Given the description of an element on the screen output the (x, y) to click on. 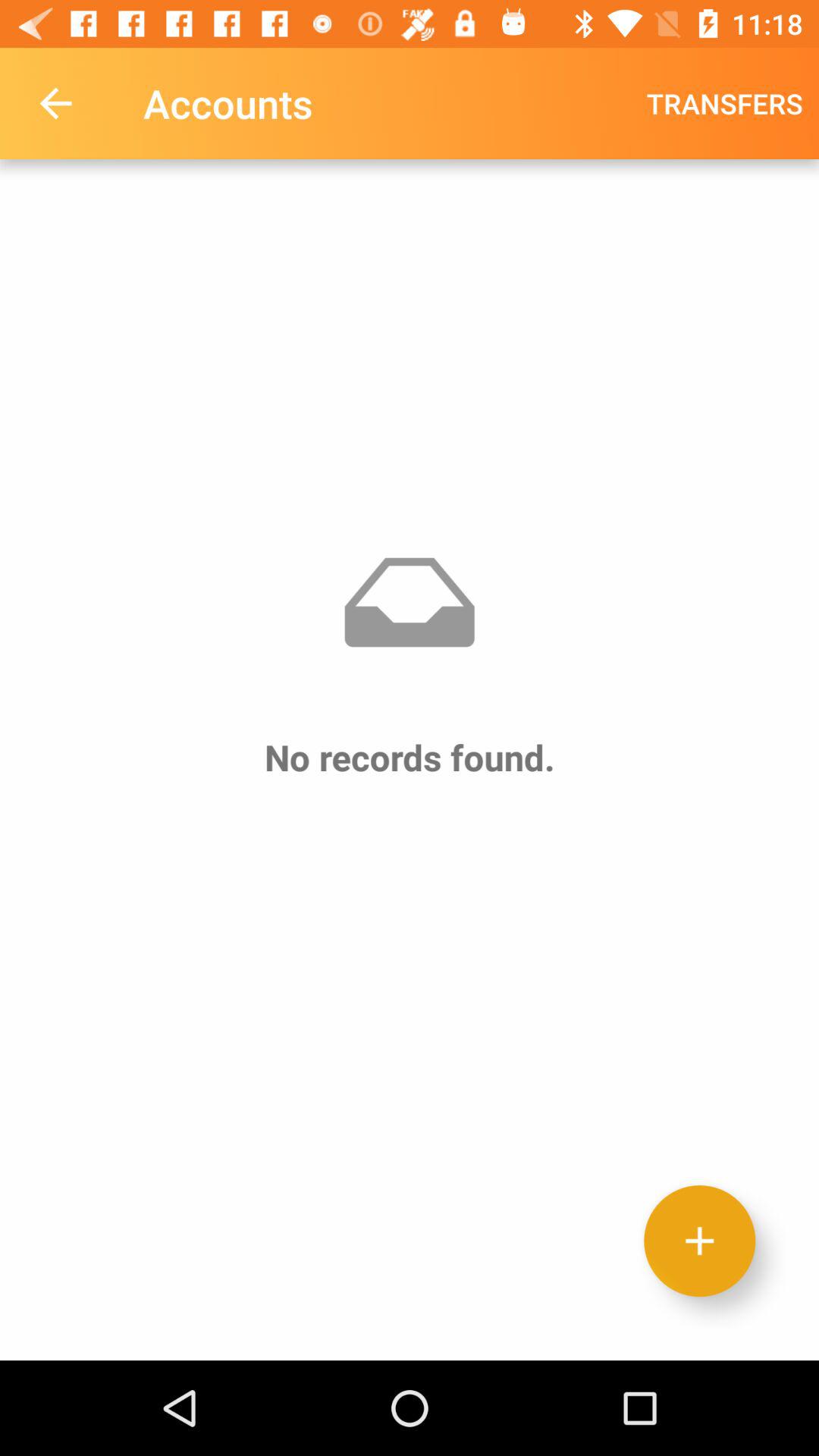
scroll to the transfers (724, 103)
